Given the description of an element on the screen output the (x, y) to click on. 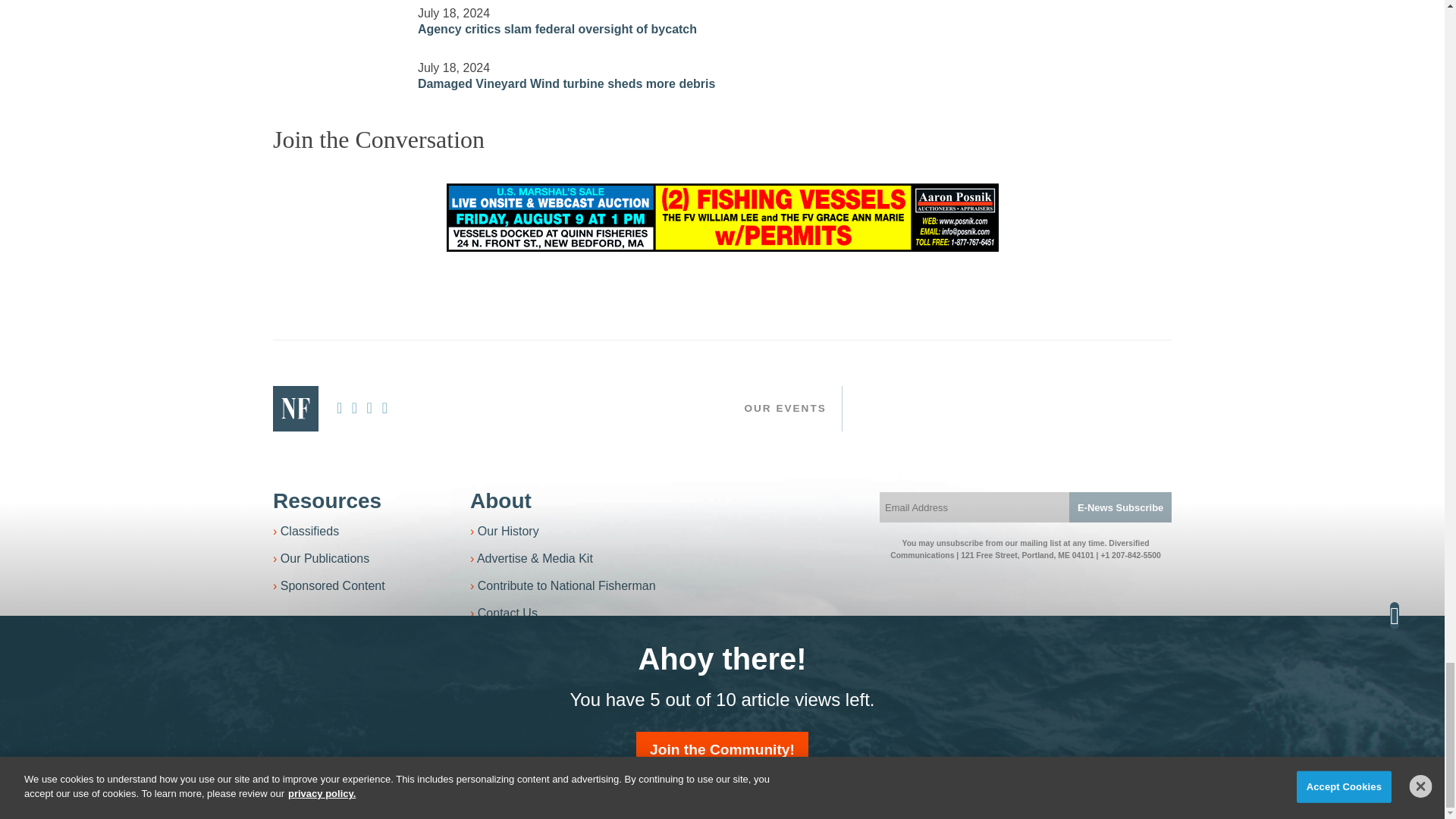
Damaged Vineyard Wind turbine sheds more debris (335, 66)
Agency critics slam federal oversight of bycatch (335, 11)
